Given the description of an element on the screen output the (x, y) to click on. 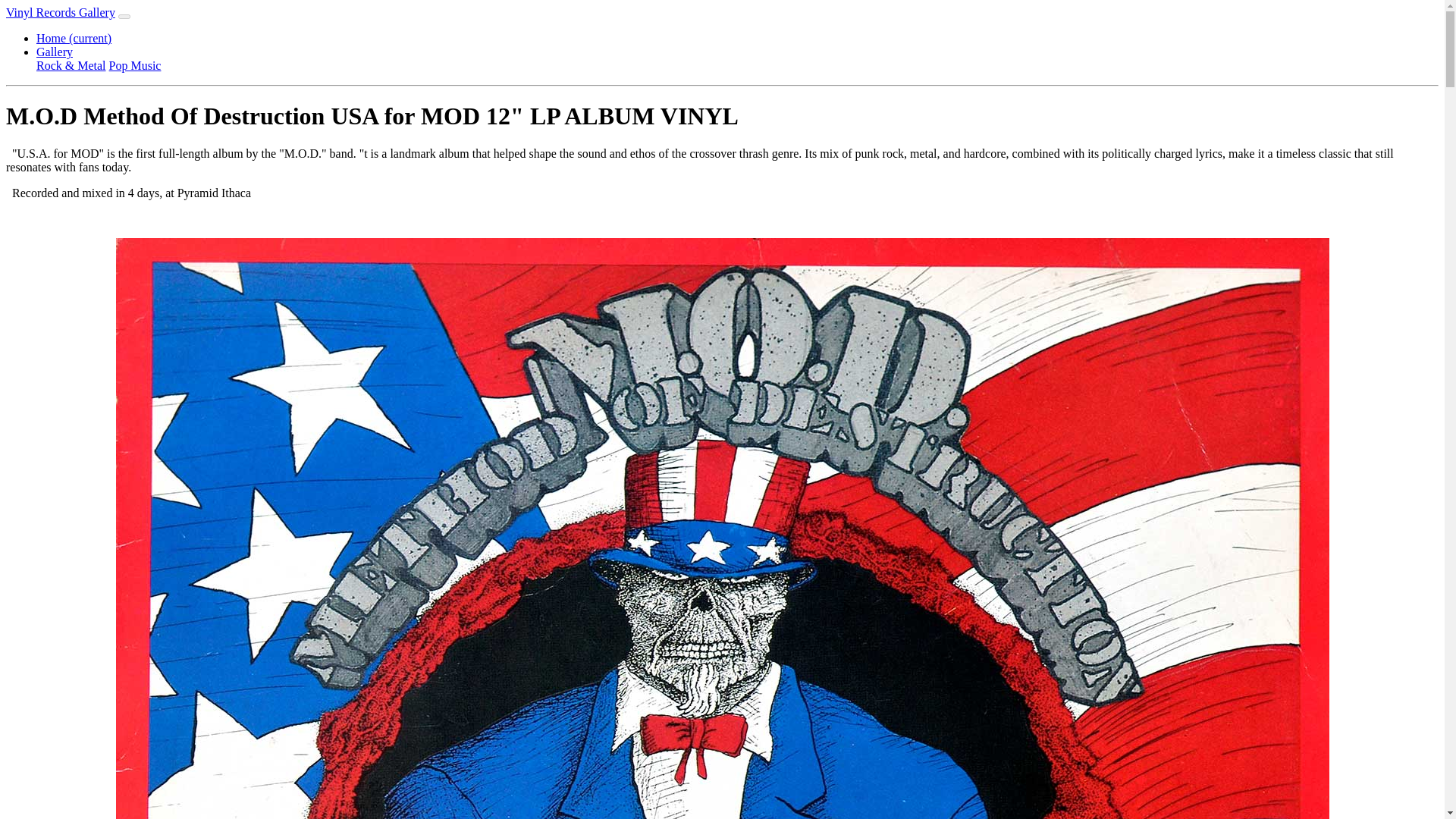
Vinyl Records Gallery (60, 11)
Pop Music (135, 65)
Gallery (54, 51)
